Given the description of an element on the screen output the (x, y) to click on. 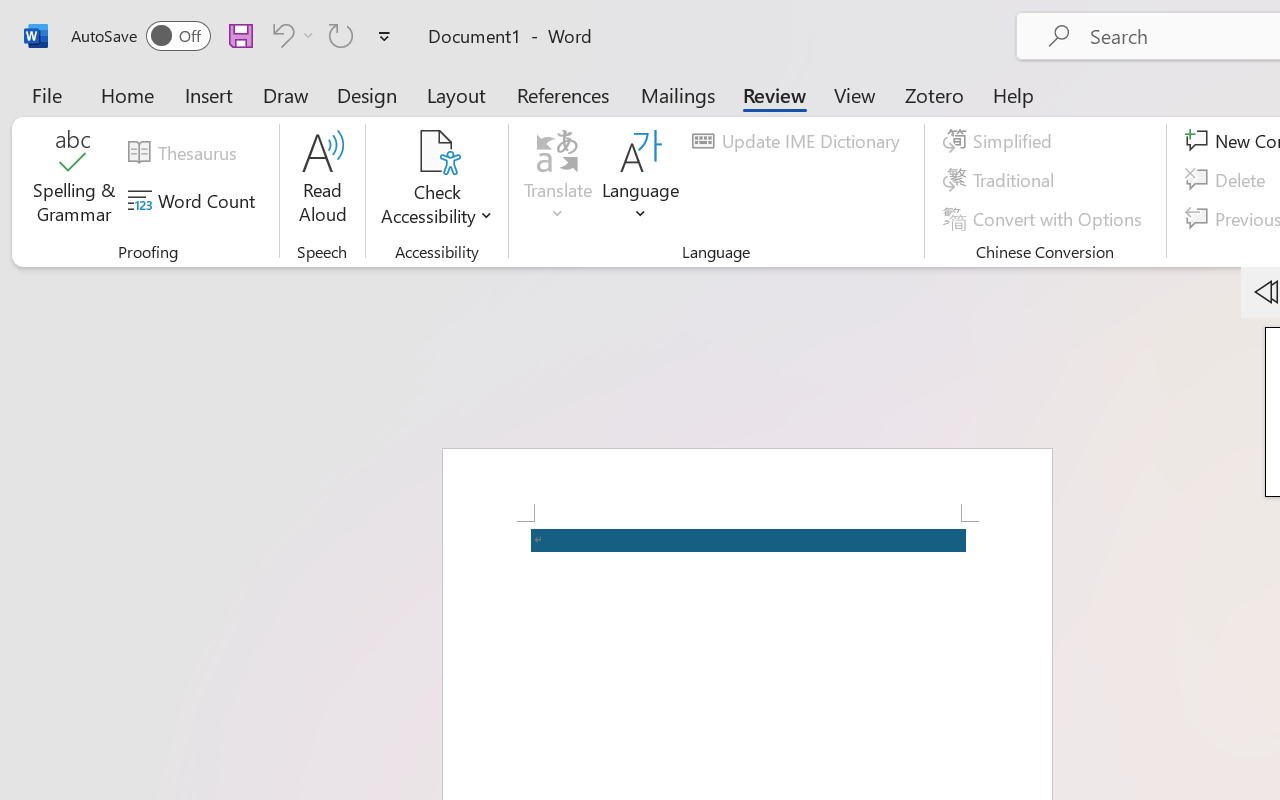
Translate (558, 179)
Repeat Accessibility Checker (341, 35)
Traditional (1001, 179)
Word Count (194, 201)
Convert with Options... (1045, 218)
Check Accessibility (436, 179)
